Given the description of an element on the screen output the (x, y) to click on. 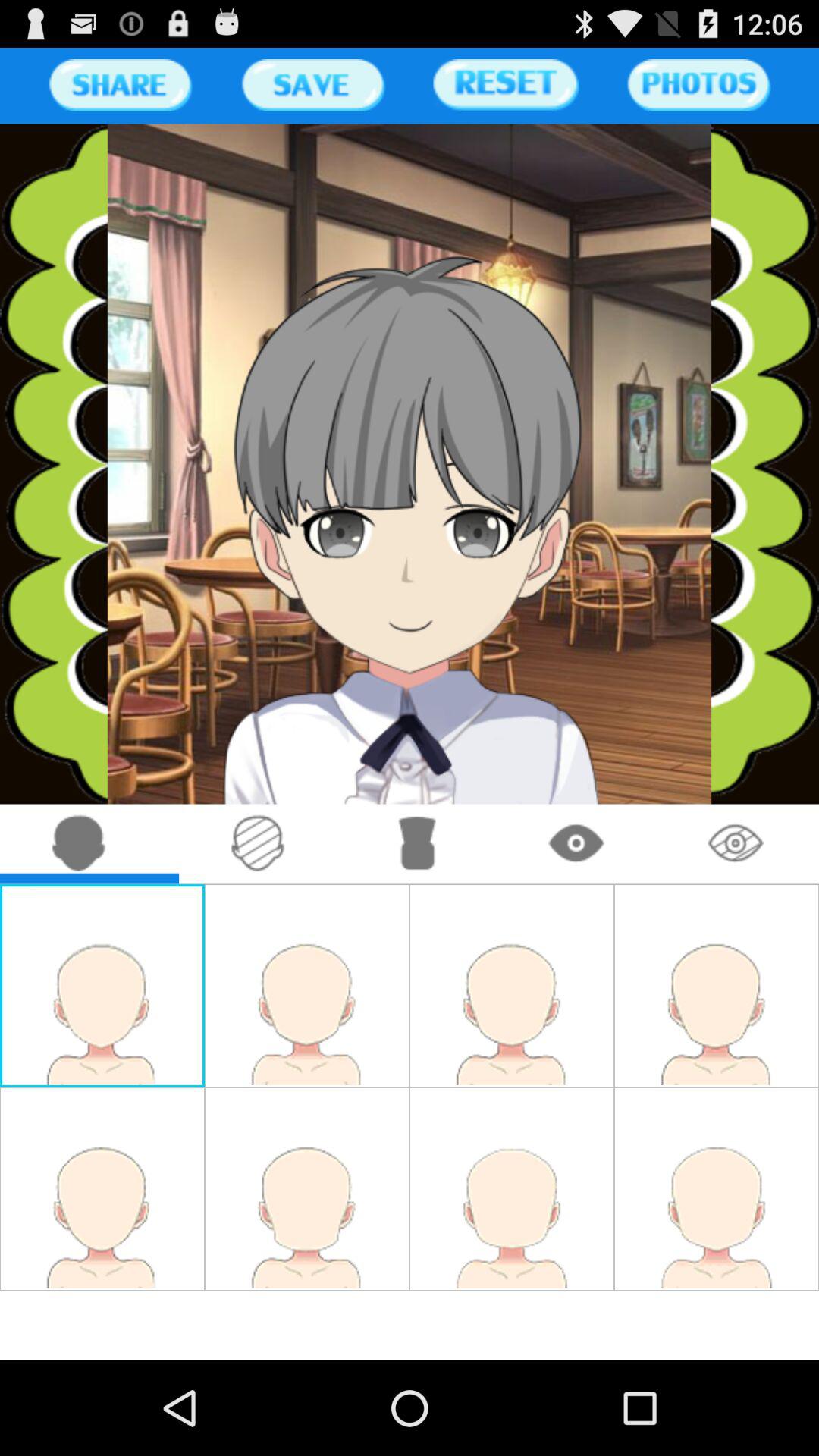
share your charachter (119, 85)
